Given the description of an element on the screen output the (x, y) to click on. 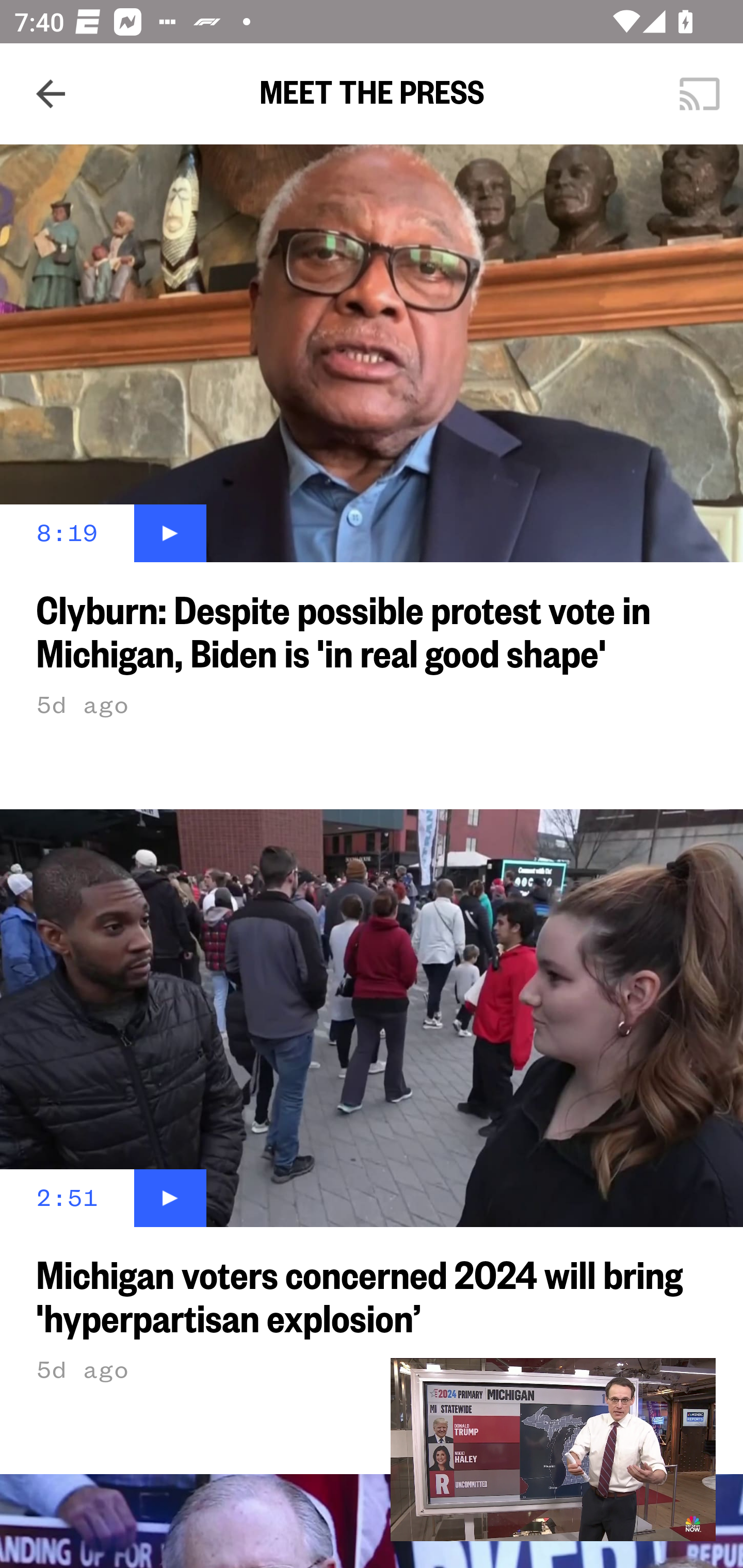
Navigate up (50, 93)
Cast. Disconnected (699, 93)
